Given the description of an element on the screen output the (x, y) to click on. 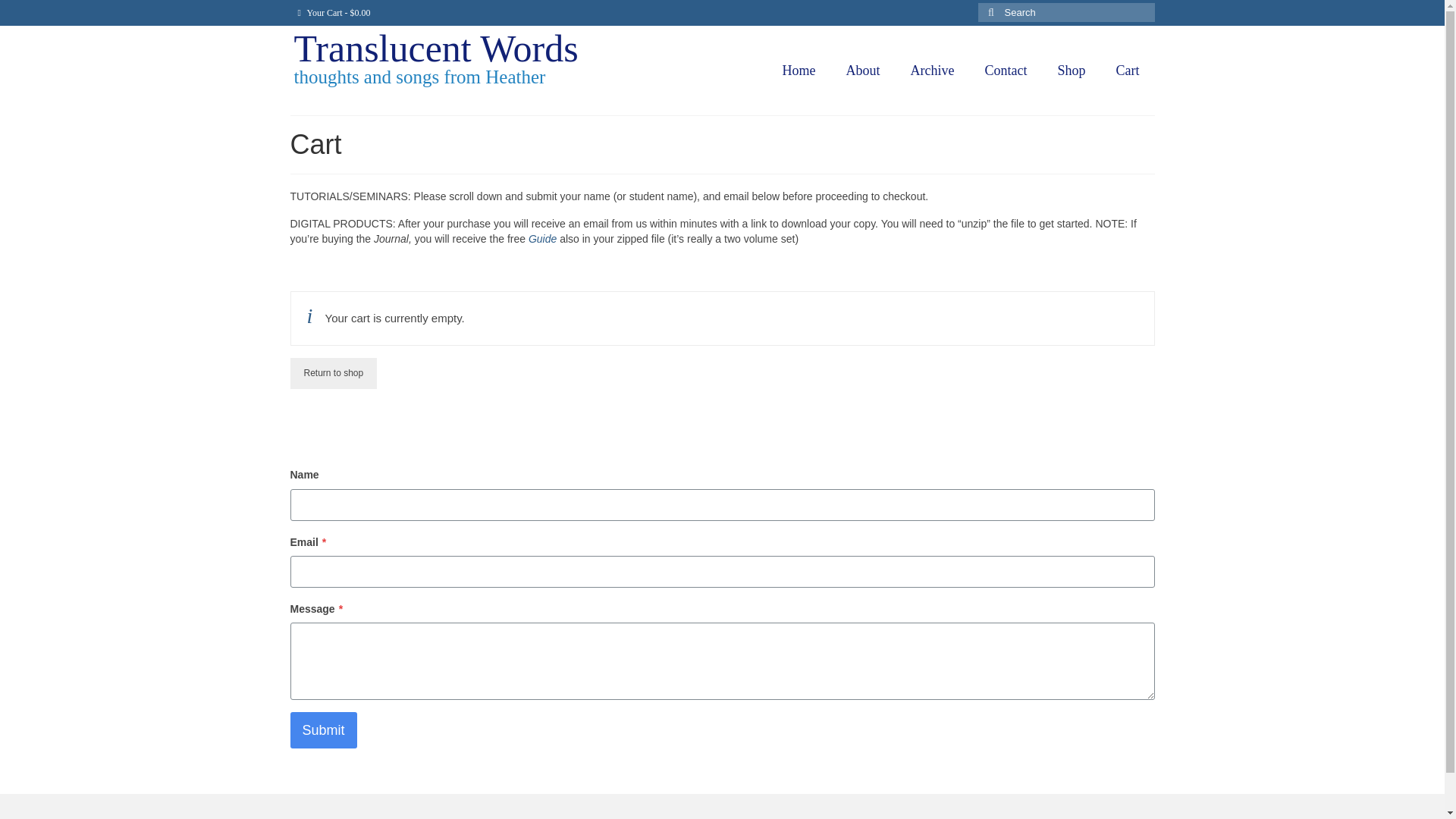
About (863, 70)
Translucent Words (436, 48)
View your shopping cart (333, 12)
Guide (542, 238)
Archive (932, 70)
Home (799, 70)
Contact (1005, 70)
Submit (322, 729)
Cart (1127, 70)
Return to shop (333, 373)
Shop (1071, 70)
